Given the description of an element on the screen output the (x, y) to click on. 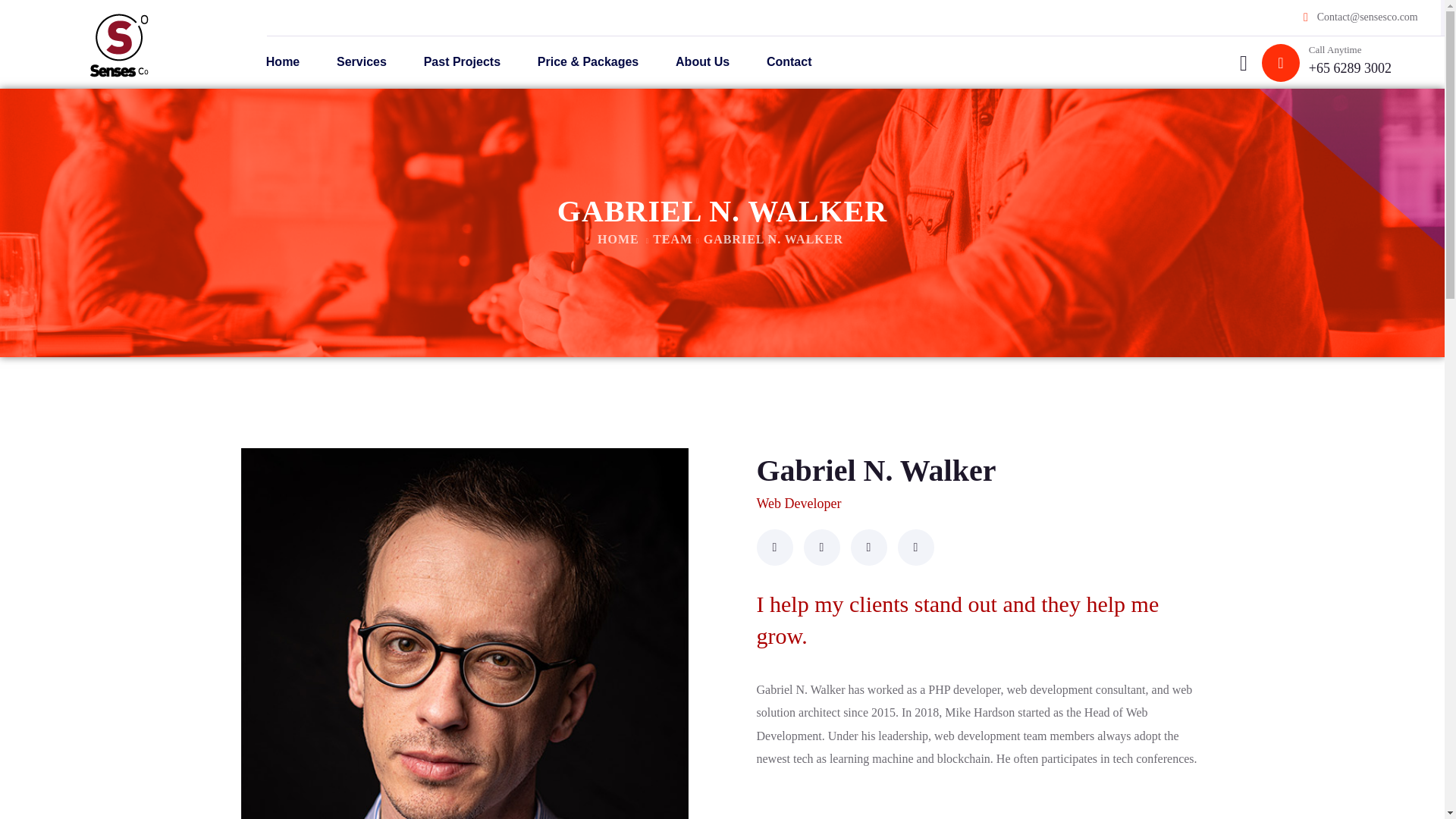
Contact (788, 61)
Past Projects (461, 61)
TEAM (672, 238)
About Us (702, 61)
address (1367, 17)
Home (617, 238)
Home (281, 61)
Services (362, 61)
address (1349, 67)
HOME (617, 238)
